Given the description of an element on the screen output the (x, y) to click on. 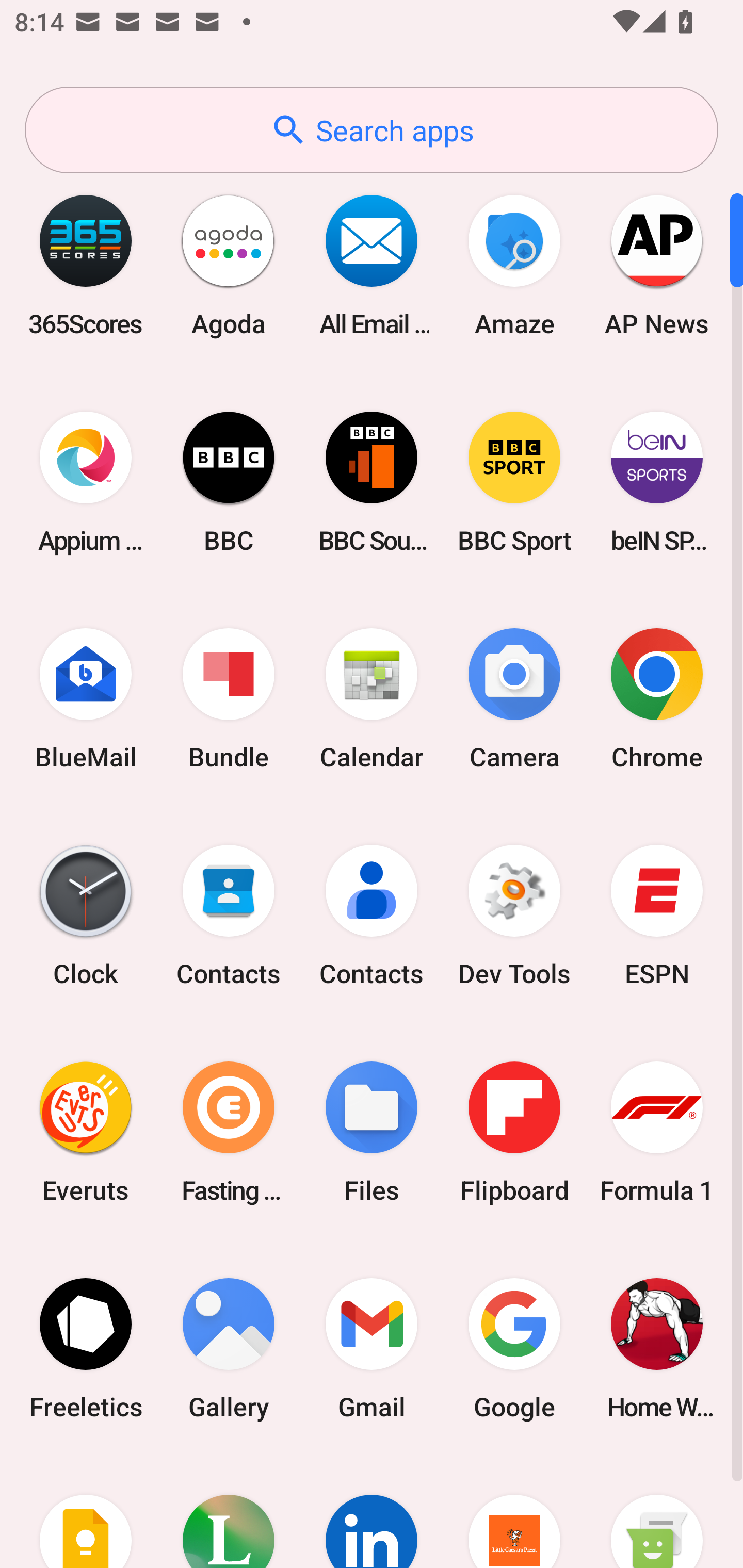
  Search apps (371, 130)
365Scores (85, 264)
Agoda (228, 264)
All Email Connect (371, 264)
Amaze (514, 264)
AP News (656, 264)
Appium Settings (85, 482)
BBC (228, 482)
BBC Sounds (371, 482)
BBC Sport (514, 482)
beIN SPORTS (656, 482)
BlueMail (85, 699)
Bundle (228, 699)
Calendar (371, 699)
Camera (514, 699)
Chrome (656, 699)
Clock (85, 915)
Contacts (228, 915)
Contacts (371, 915)
Dev Tools (514, 915)
ESPN (656, 915)
Everuts (85, 1131)
Fasting Coach (228, 1131)
Files (371, 1131)
Flipboard (514, 1131)
Formula 1 (656, 1131)
Freeletics (85, 1348)
Gallery (228, 1348)
Gmail (371, 1348)
Google (514, 1348)
Home Workout (656, 1348)
Keep Notes (85, 1512)
Lifesum (228, 1512)
LinkedIn (371, 1512)
Little Caesars Pizza (514, 1512)
Messaging (656, 1512)
